Given the description of an element on the screen output the (x, y) to click on. 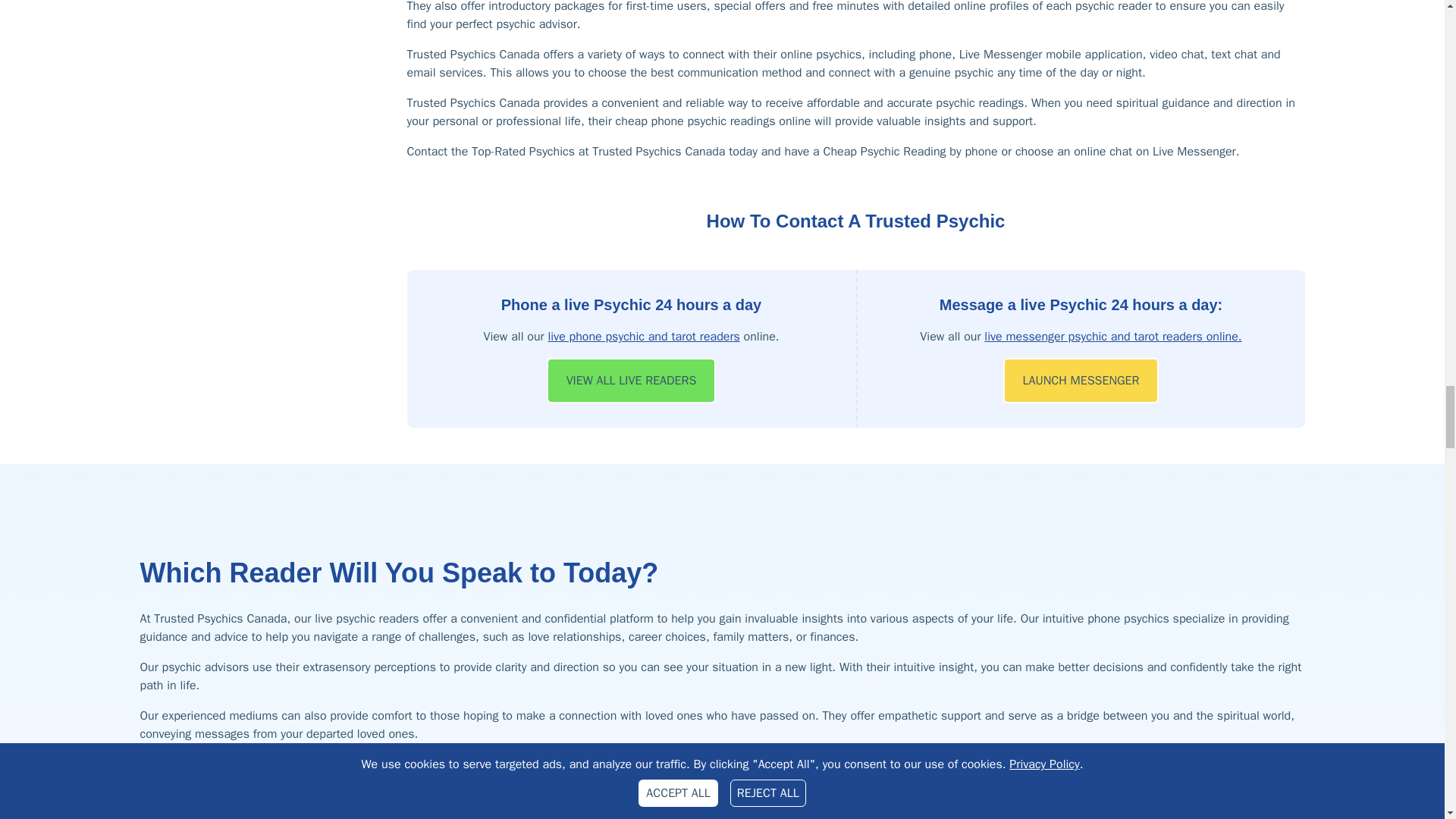
LAUNCH MESSENGER (1080, 380)
VIEW ALL LIVE READERS (631, 380)
live messenger psychic and tarot readers online. (1112, 336)
live phone psychic and tarot readers (643, 336)
